Given the description of an element on the screen output the (x, y) to click on. 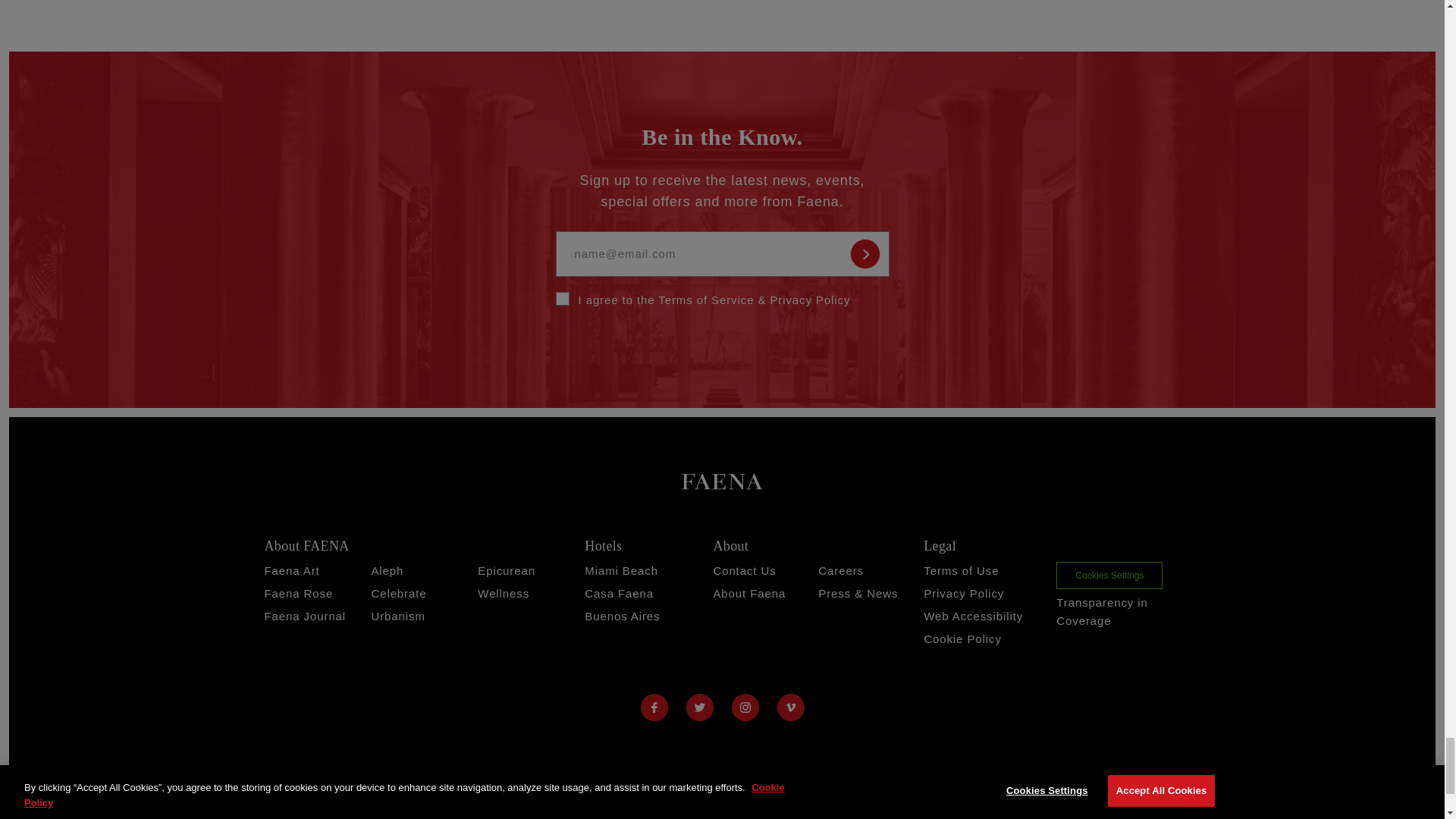
Submit (863, 254)
1 (561, 298)
